Given the description of an element on the screen output the (x, y) to click on. 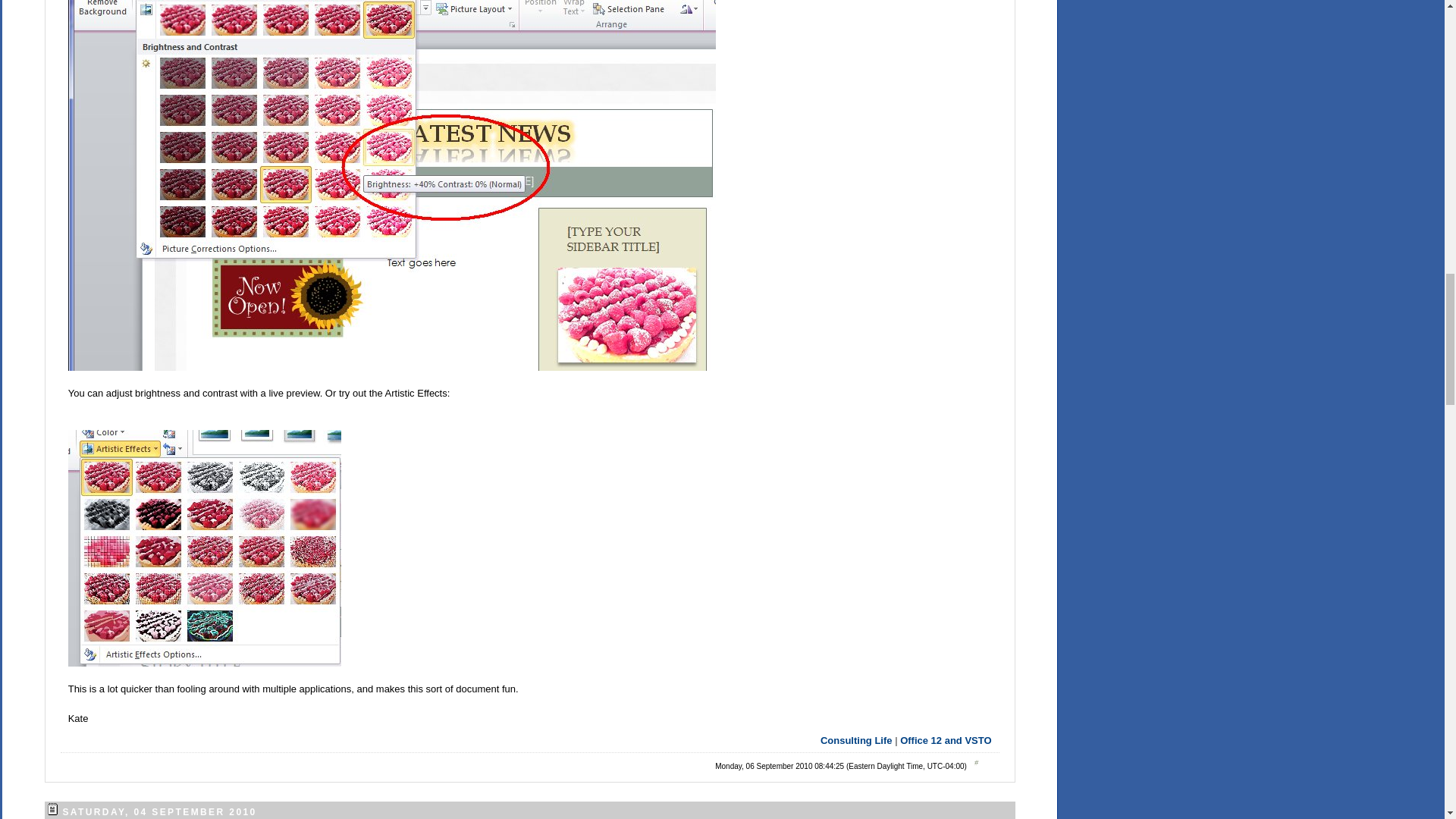
Office 12 and VSTO (945, 740)
Consulting Life (856, 740)
